Given the description of an element on the screen output the (x, y) to click on. 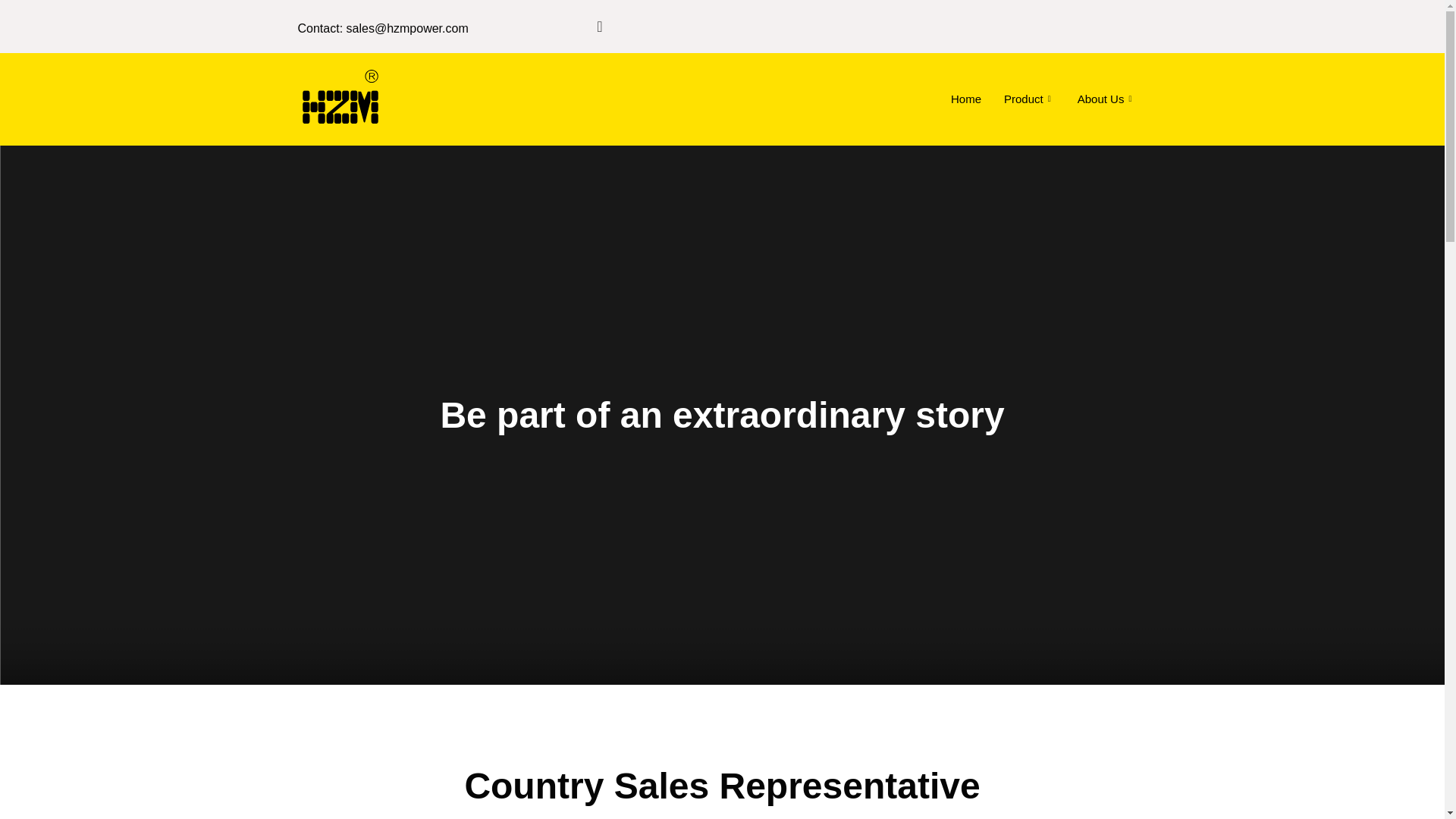
Product (1028, 97)
About Us (1106, 97)
